Given the description of an element on the screen output the (x, y) to click on. 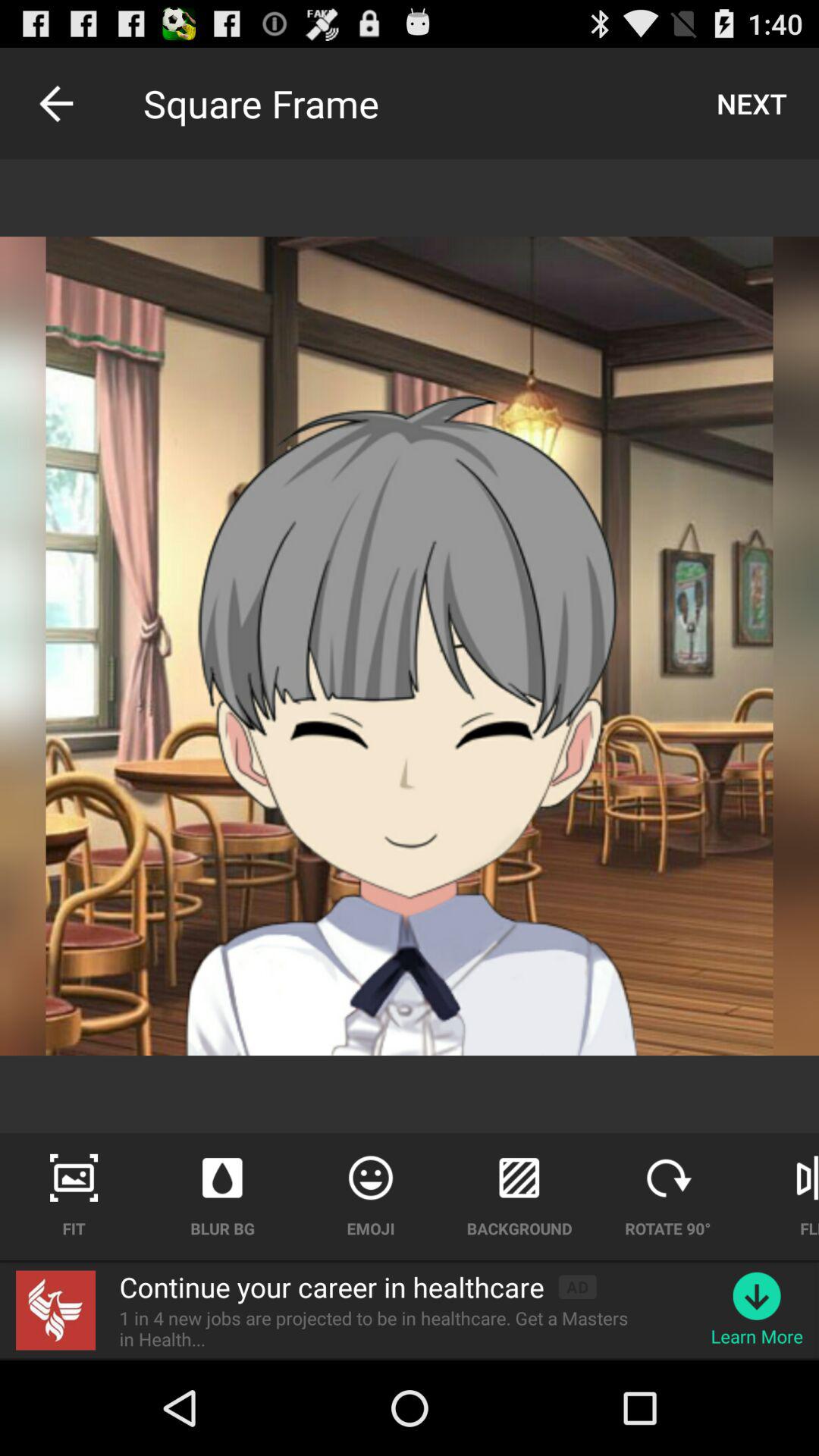
turn on the icon next to continue your career icon (55, 1310)
